Given the description of an element on the screen output the (x, y) to click on. 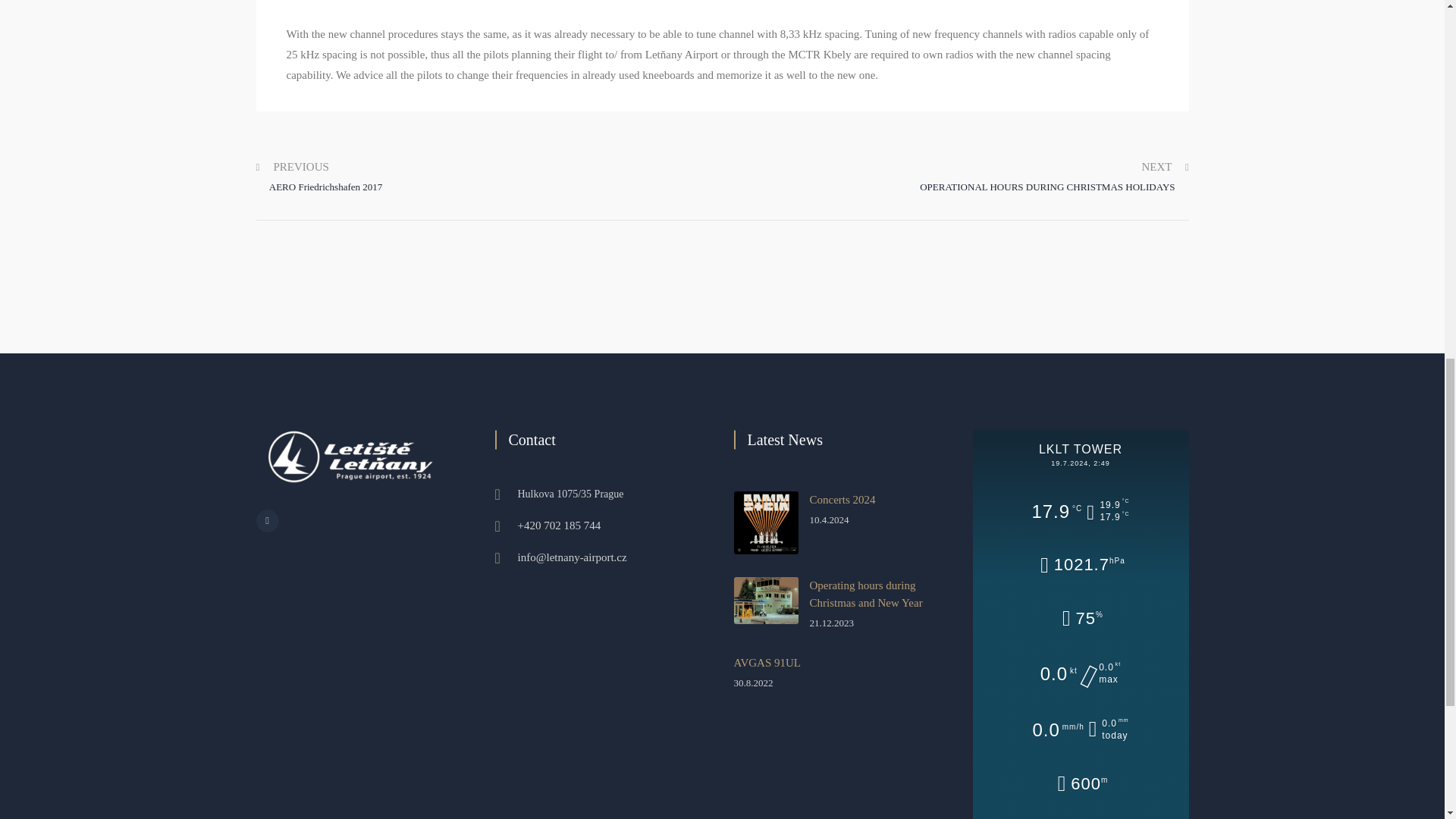
Barometric pressure (1080, 566)
Rainfall (1080, 730)
Cloud base altitude (1080, 784)
Temperature (1079, 511)
Wind from Northeast (1081, 673)
Relative humidity (1080, 619)
